Given the description of an element on the screen output the (x, y) to click on. 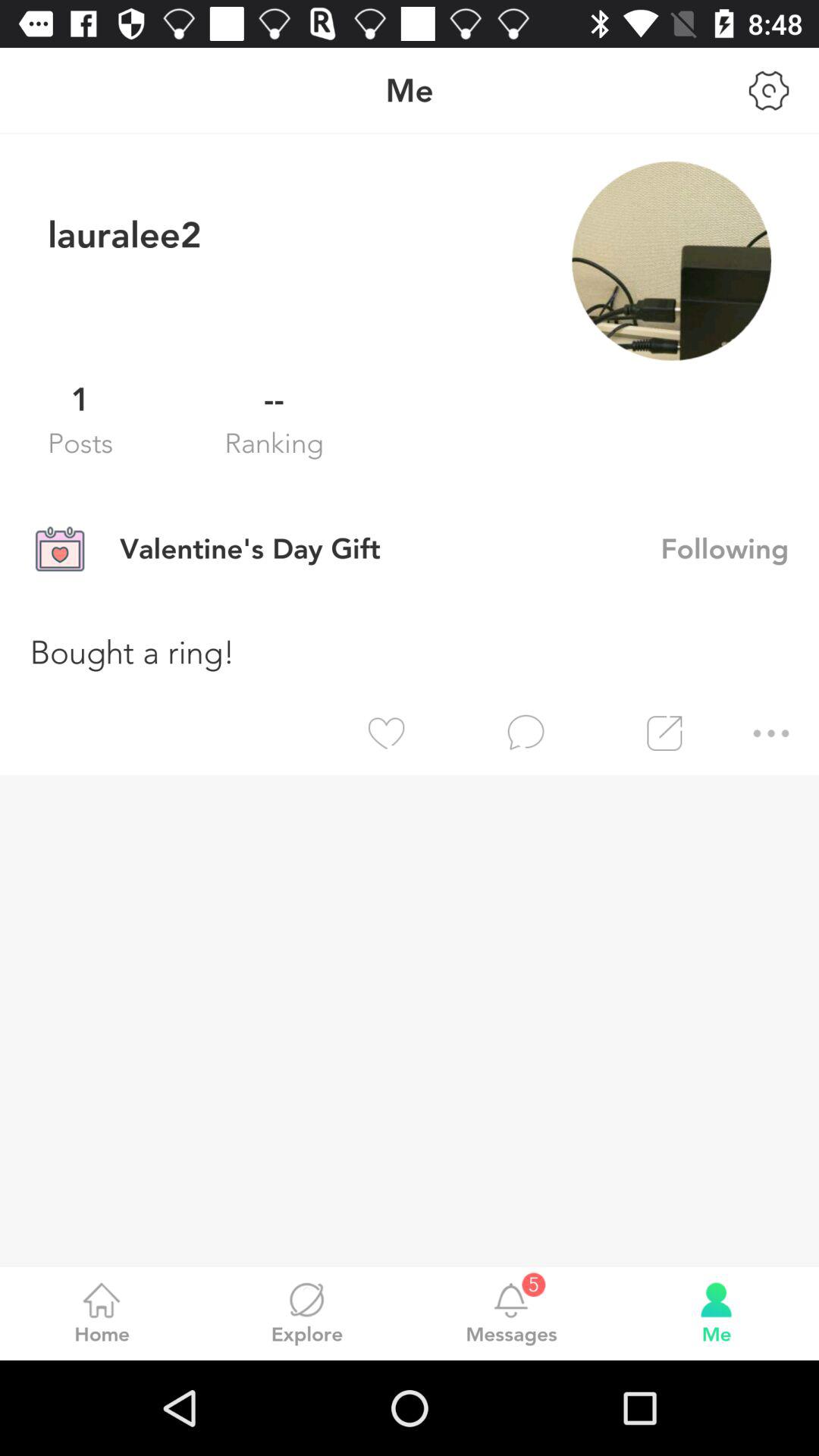
launch item to the right of me icon (768, 90)
